Given the description of an element on the screen output the (x, y) to click on. 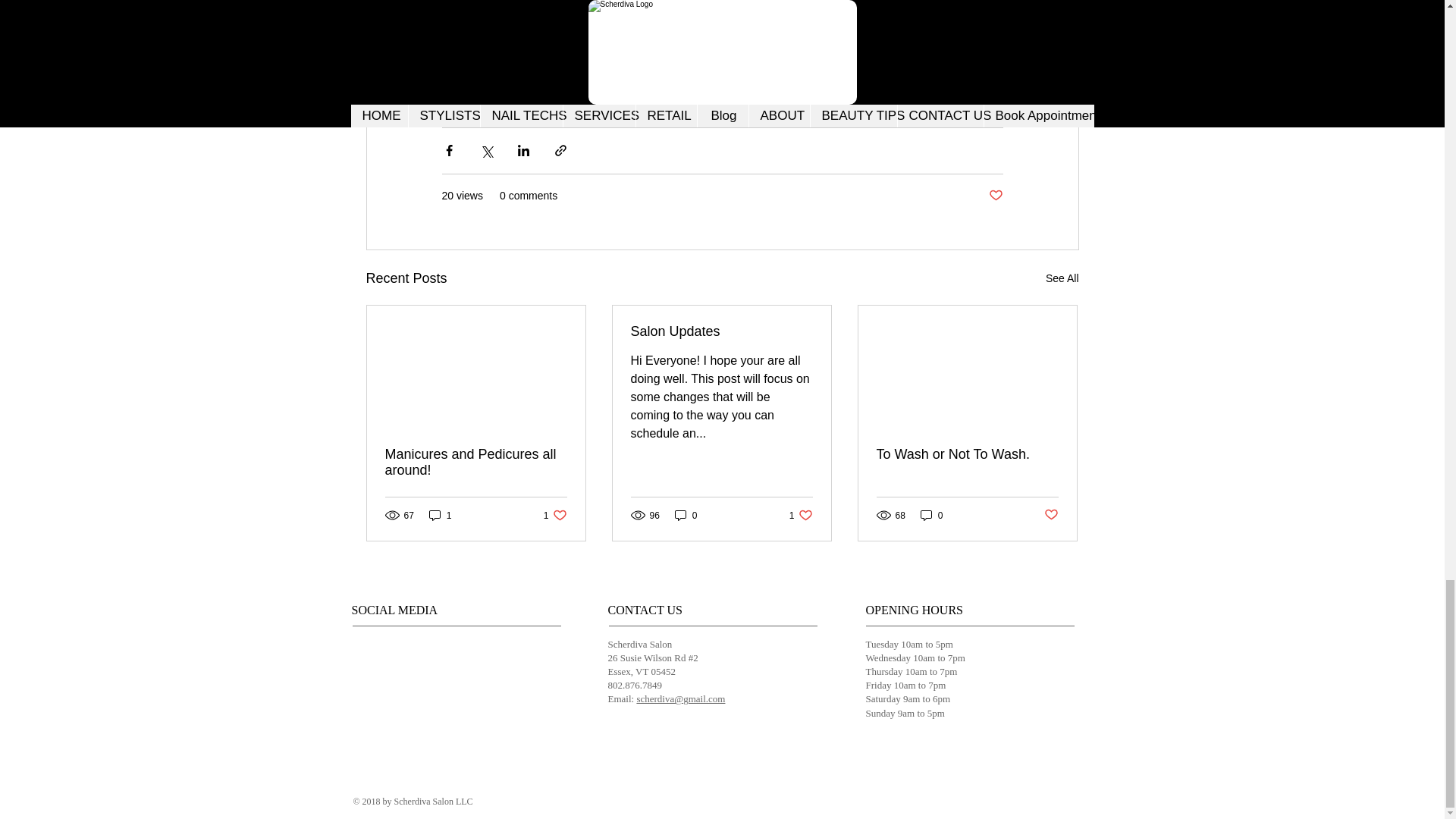
Salon Updates (721, 331)
See All (1061, 278)
To Wash or Not To Wash. (967, 454)
Post not marked as liked (1050, 514)
Post not marked as liked (995, 195)
1 (440, 514)
Manicures and Pedicures all around! (476, 462)
0 (555, 514)
0 (685, 514)
